Given the description of an element on the screen output the (x, y) to click on. 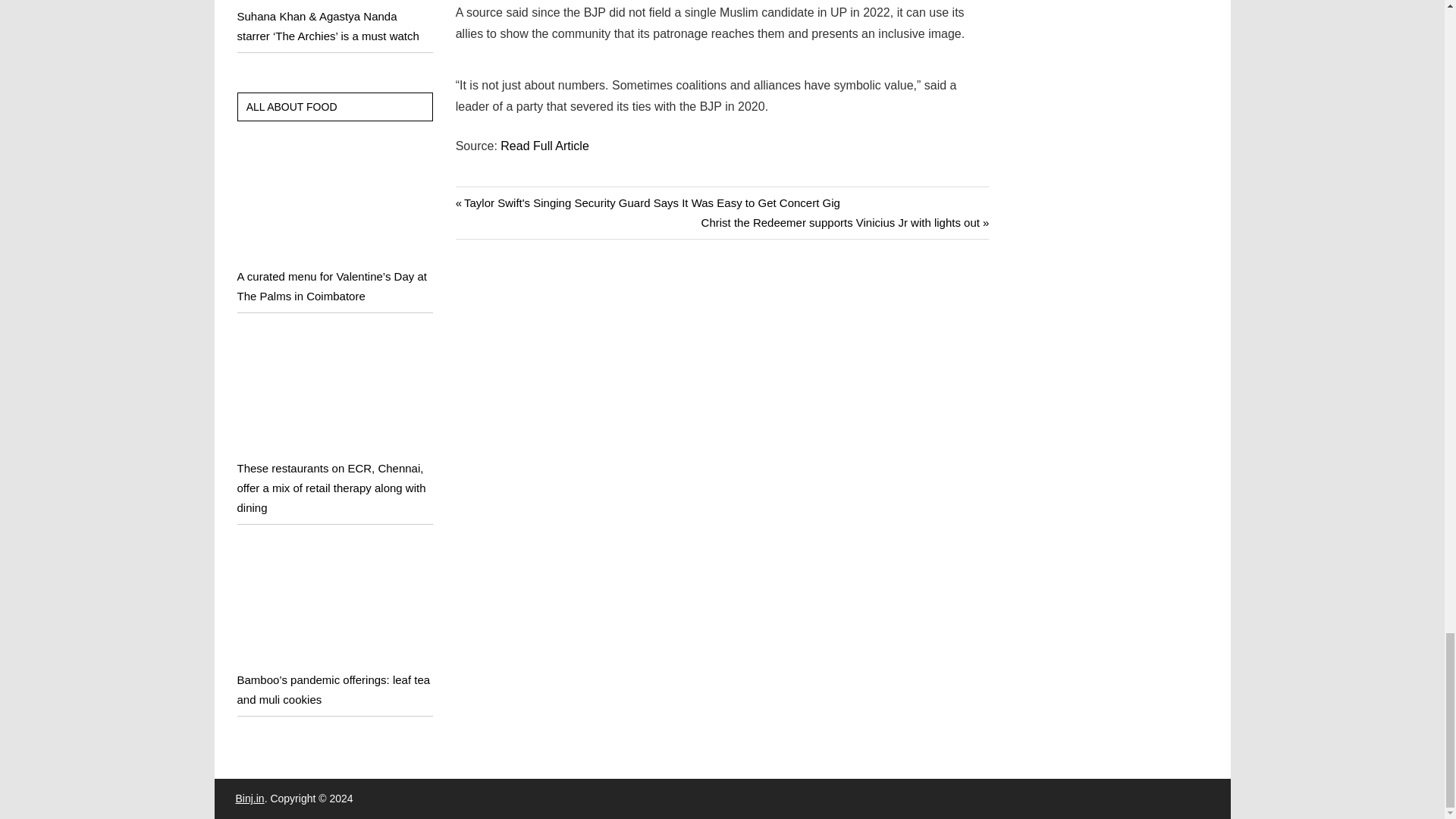
Read Full Article (544, 145)
